Given the description of an element on the screen output the (x, y) to click on. 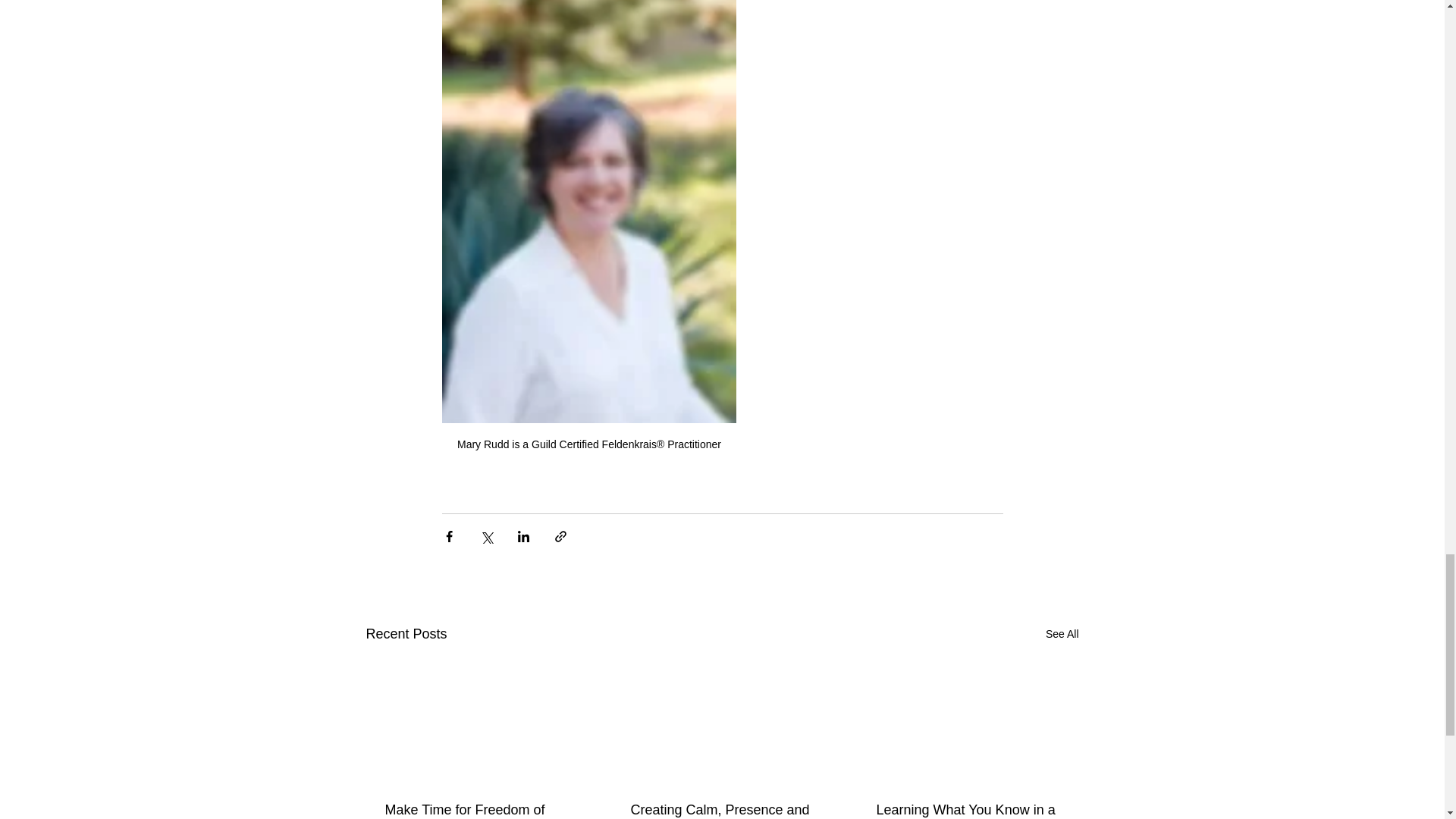
Creating Calm, Presence and Ease through Mindful Movement (721, 810)
Learning What You Know in a New Way: My Fire Story (967, 810)
See All (1061, 634)
Make Time for Freedom of Mind and Body (476, 810)
